Given the description of an element on the screen output the (x, y) to click on. 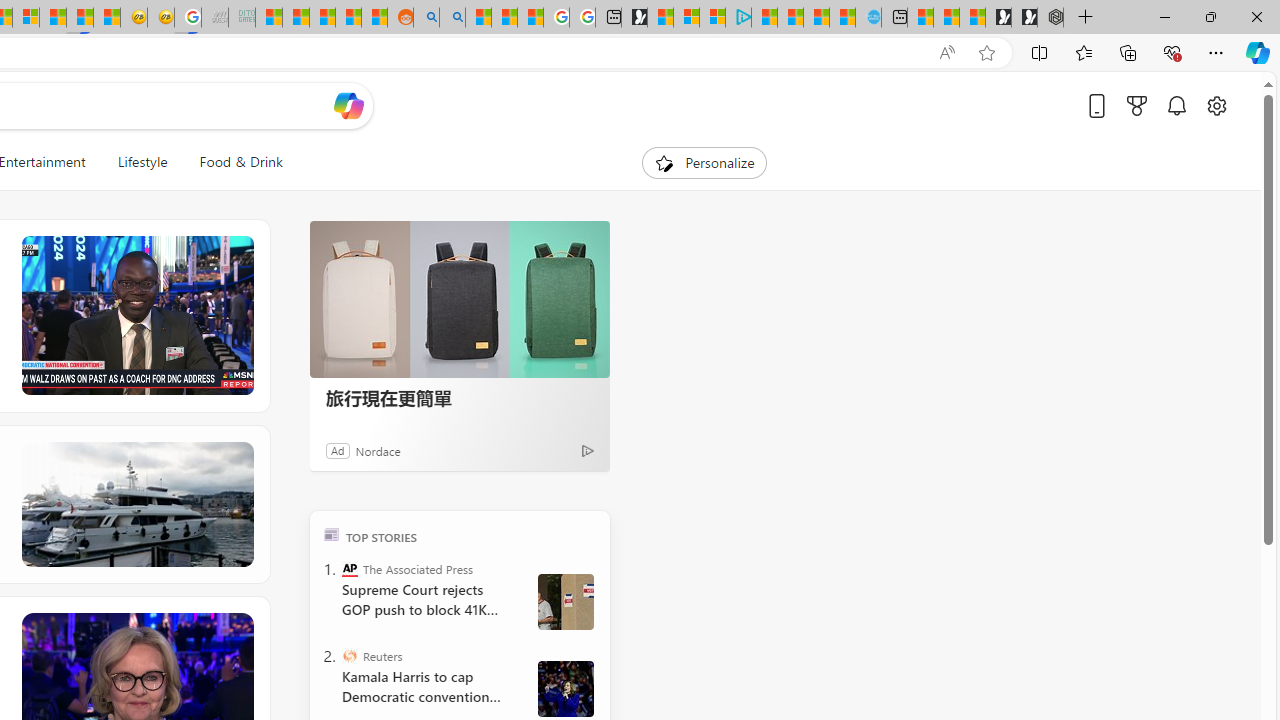
Class: hero-image (136, 316)
